Given the description of an element on the screen output the (x, y) to click on. 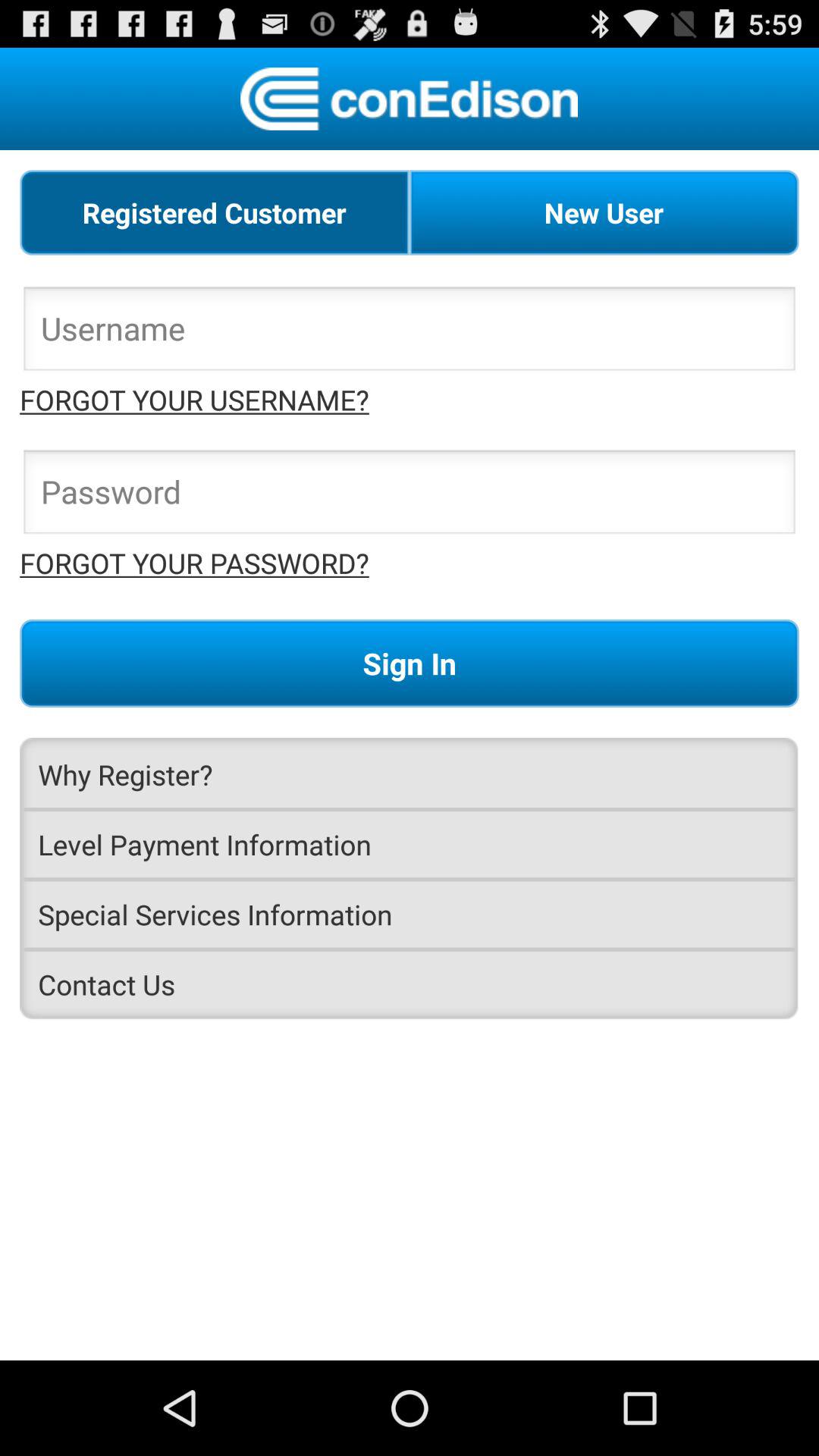
write password (409, 496)
